Given the description of an element on the screen output the (x, y) to click on. 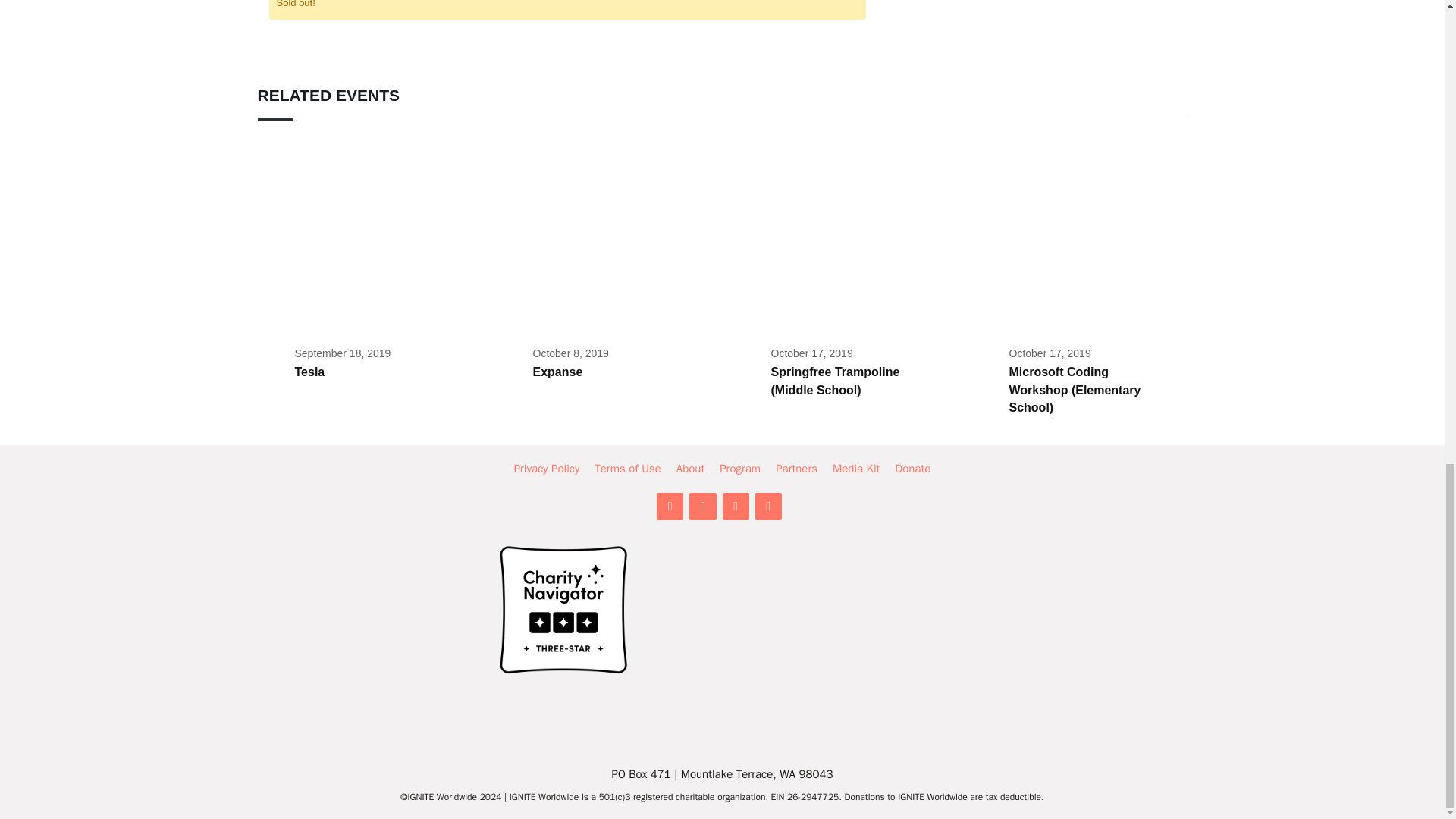
Instagram (735, 506)
Scroll back to top (1406, 460)
YouTube (768, 506)
Facebook (702, 506)
LinkedIn (669, 506)
